Given the description of an element on the screen output the (x, y) to click on. 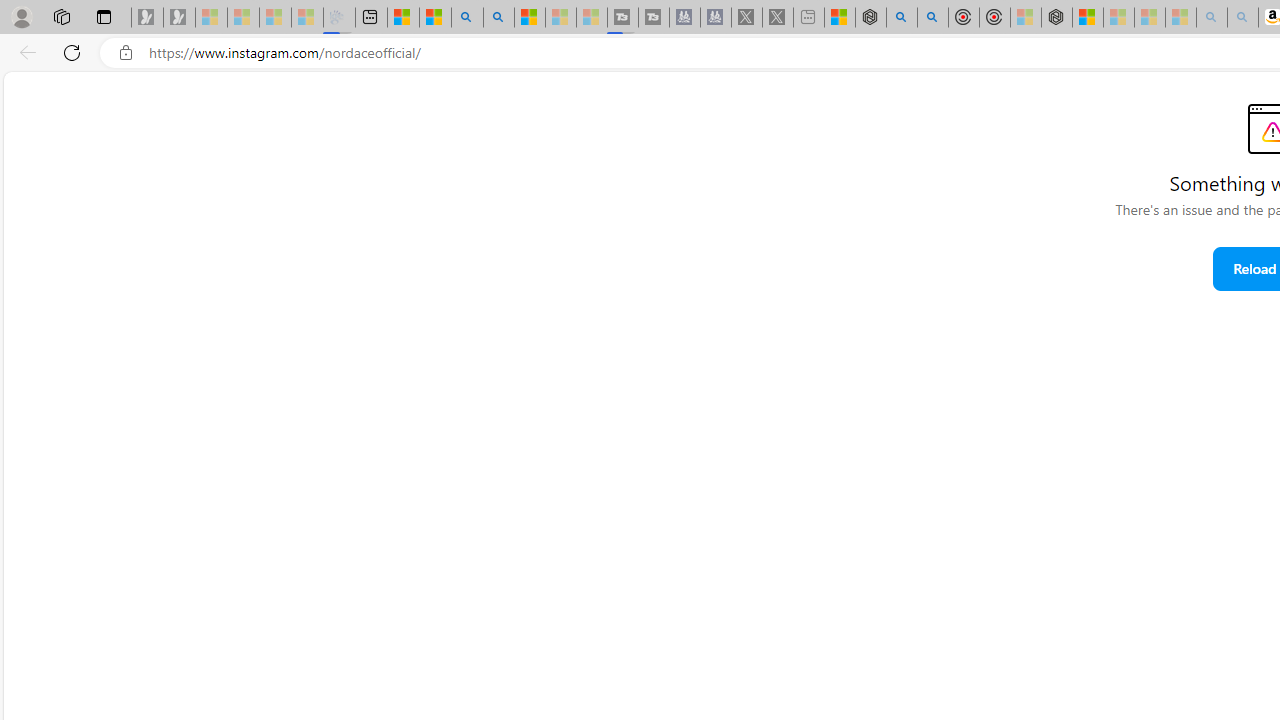
Amazon Echo Dot PNG - Search Images - Sleeping (1242, 17)
Nordace - Nordace Siena Is Not An Ordinary Backpack (1056, 17)
